Given the description of an element on the screen output the (x, y) to click on. 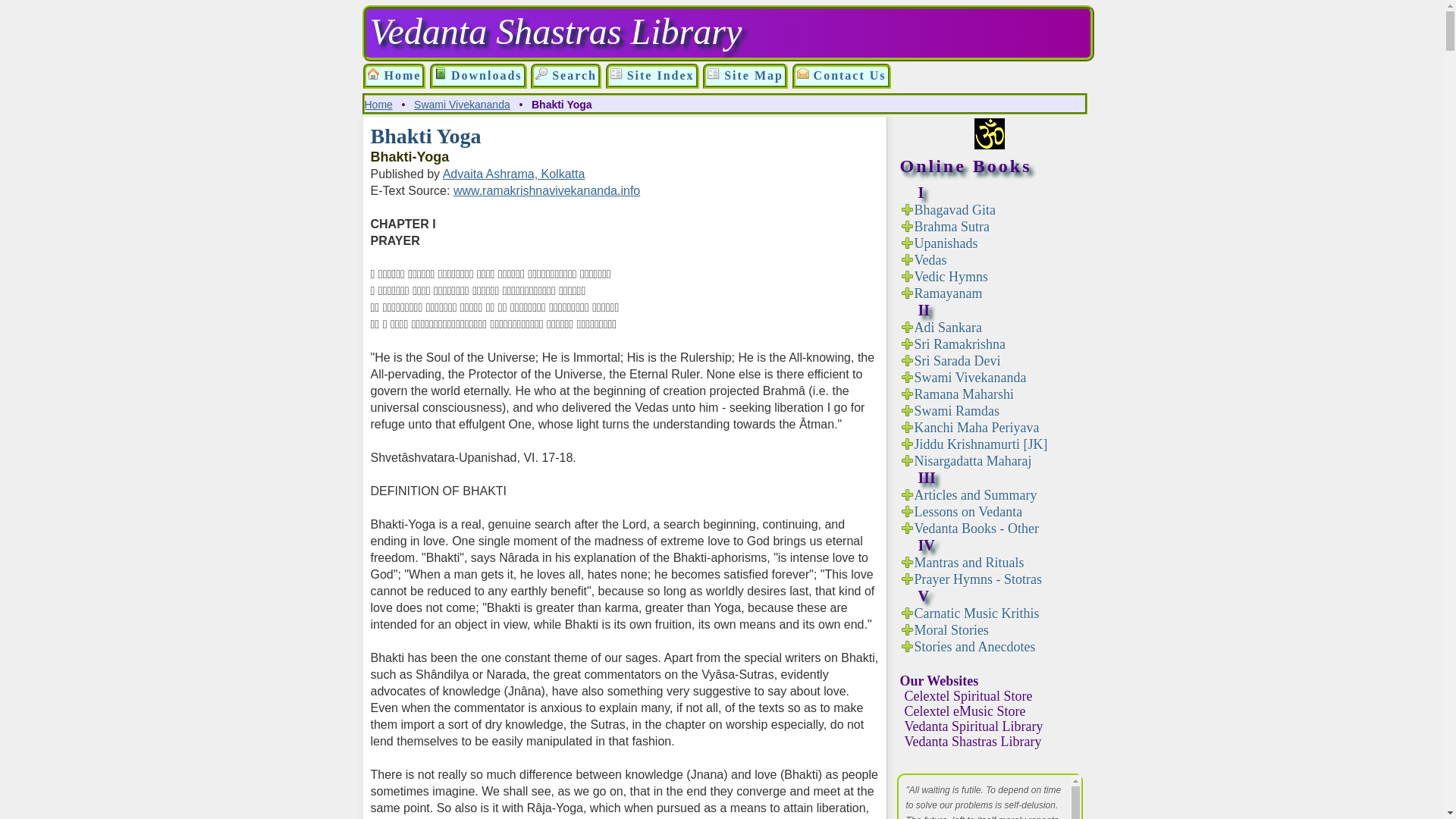
Downloads (439, 73)
Home (377, 104)
www.ramakrishnavivekananda.info (546, 190)
 Downloads (478, 75)
Site Index (616, 73)
Search (566, 75)
 Search (566, 75)
Search (541, 73)
Downloads (478, 75)
Site Index (651, 75)
